Given the description of an element on the screen output the (x, y) to click on. 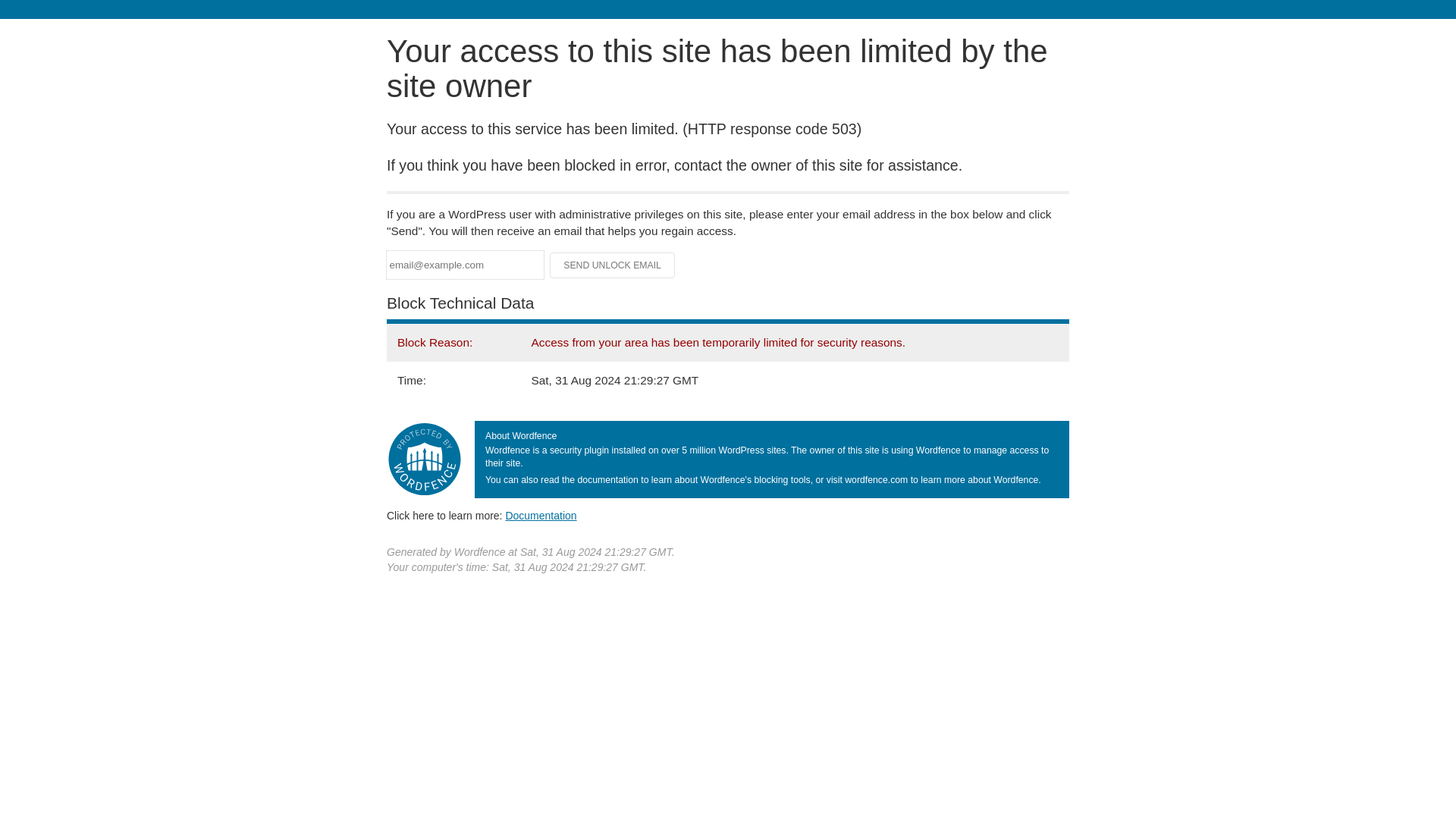
Send Unlock Email (612, 265)
Documentation (540, 515)
Send Unlock Email (612, 265)
